Given the description of an element on the screen output the (x, y) to click on. 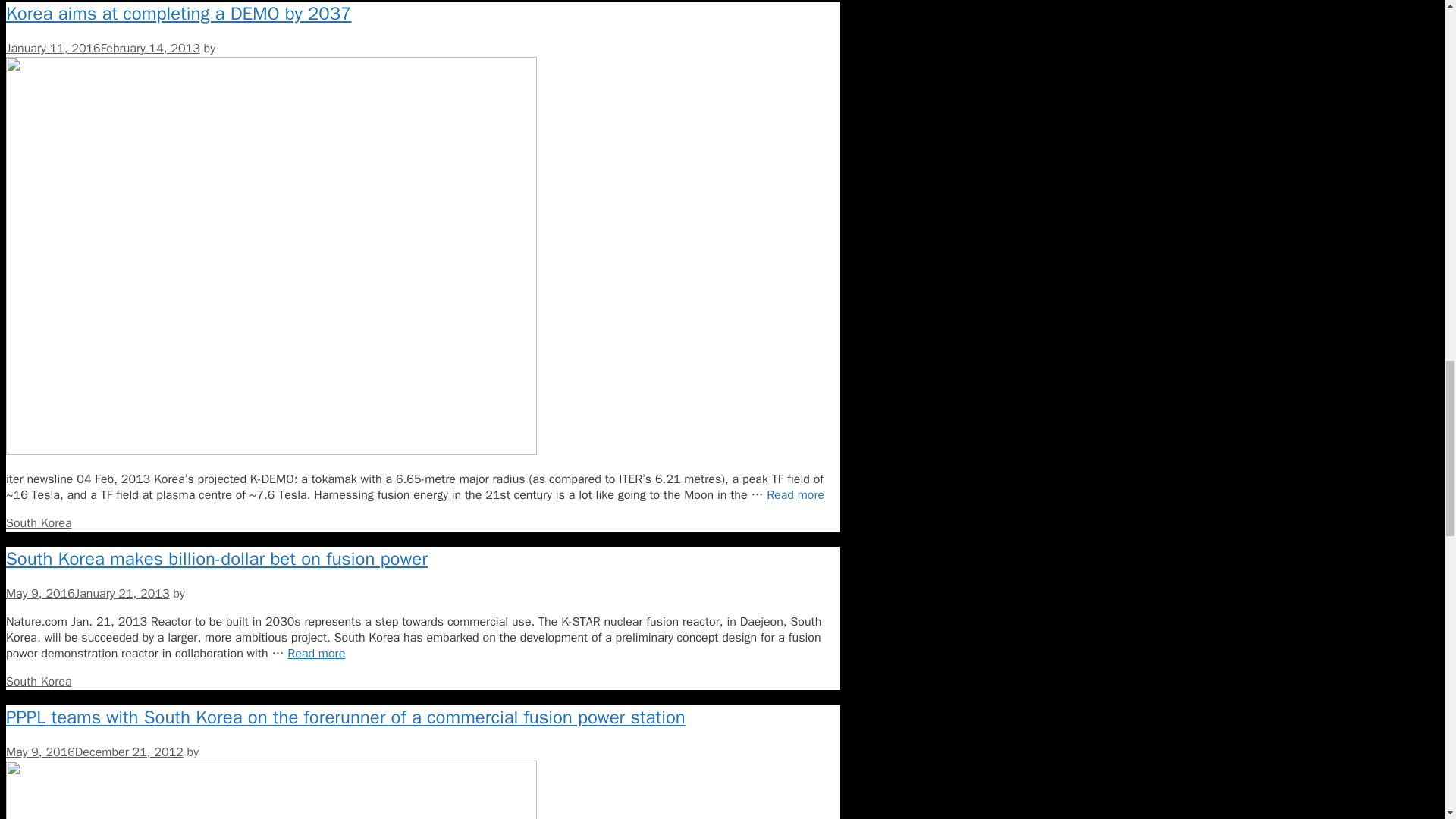
7:58 pm (102, 48)
6:37 am (86, 593)
Korea aims at completing a DEMO by 2037 (795, 494)
South Korea makes billion-dollar bet on fusion power (315, 653)
